Given the description of an element on the screen output the (x, y) to click on. 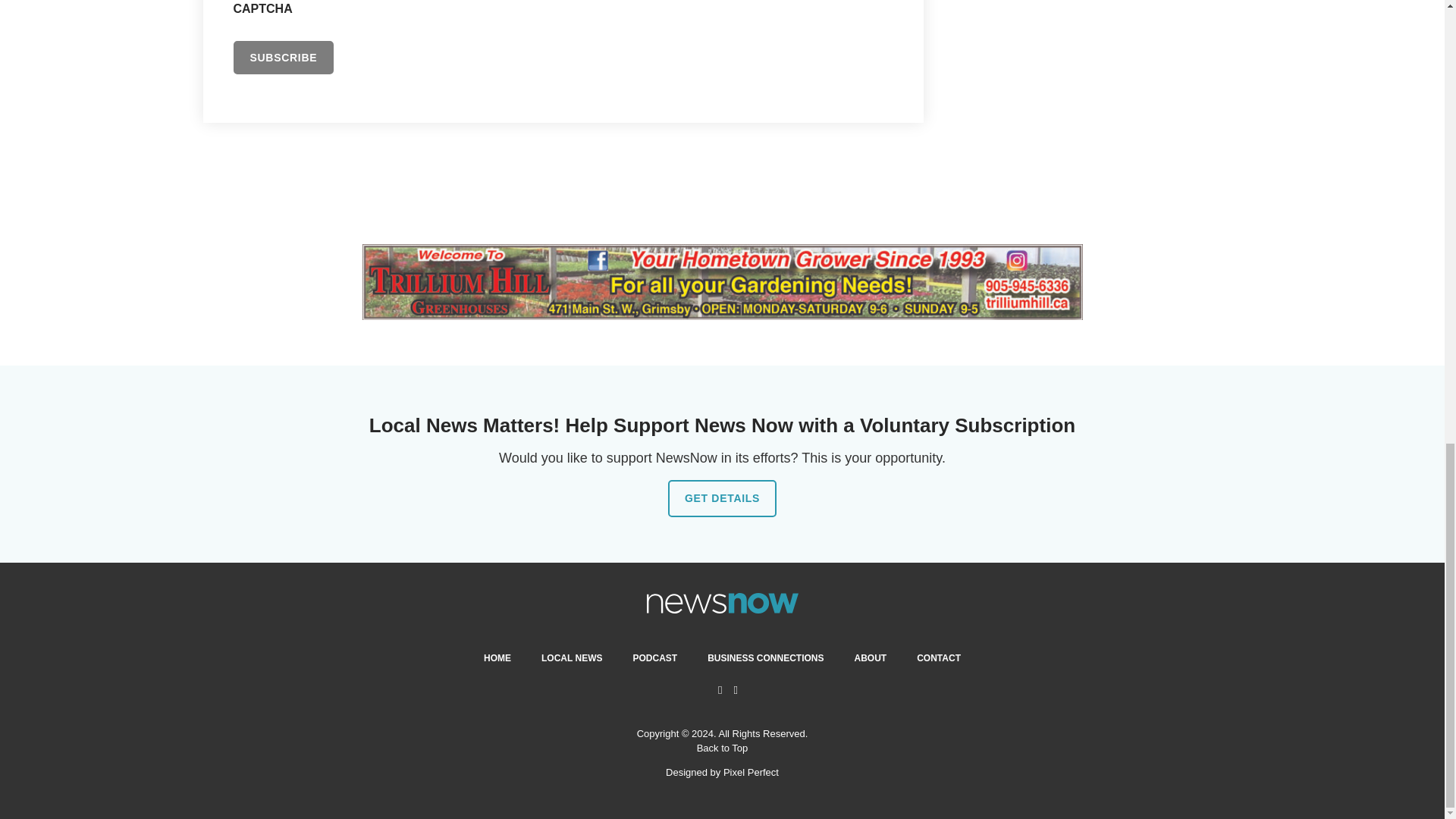
Subscribe (283, 57)
